Given the description of an element on the screen output the (x, y) to click on. 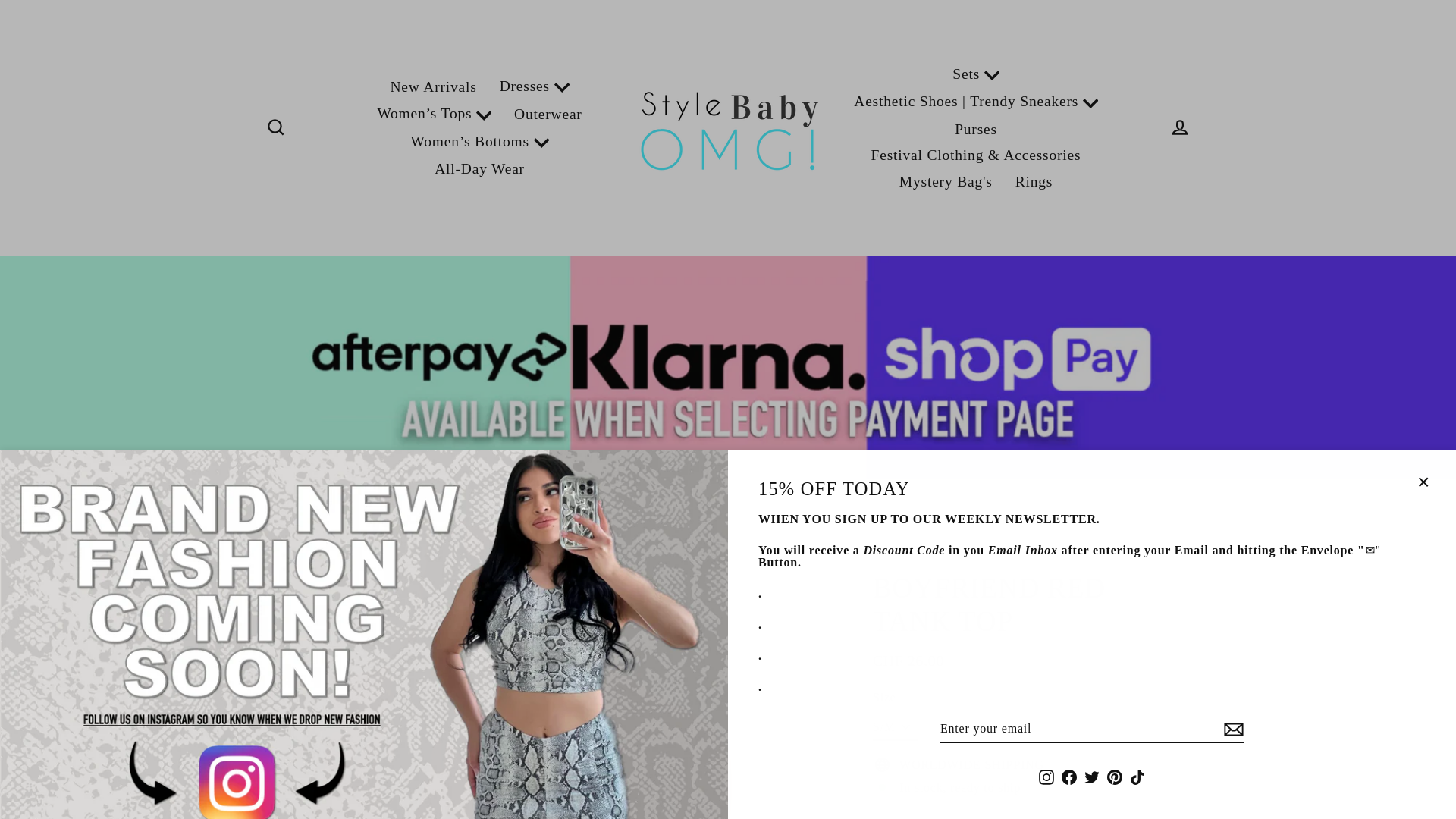
Style Baby OMG Fashion Boutique on Instagram (1046, 776)
Style Baby OMG Fashion Boutique on Pinterest (1114, 776)
Style Baby OMG Fashion Boutique on TikTok (1136, 776)
Style Baby OMG Fashion Boutique on Facebook (1069, 776)
Style Baby OMG Fashion Boutique on Twitter (1091, 776)
